Given the description of an element on the screen output the (x, y) to click on. 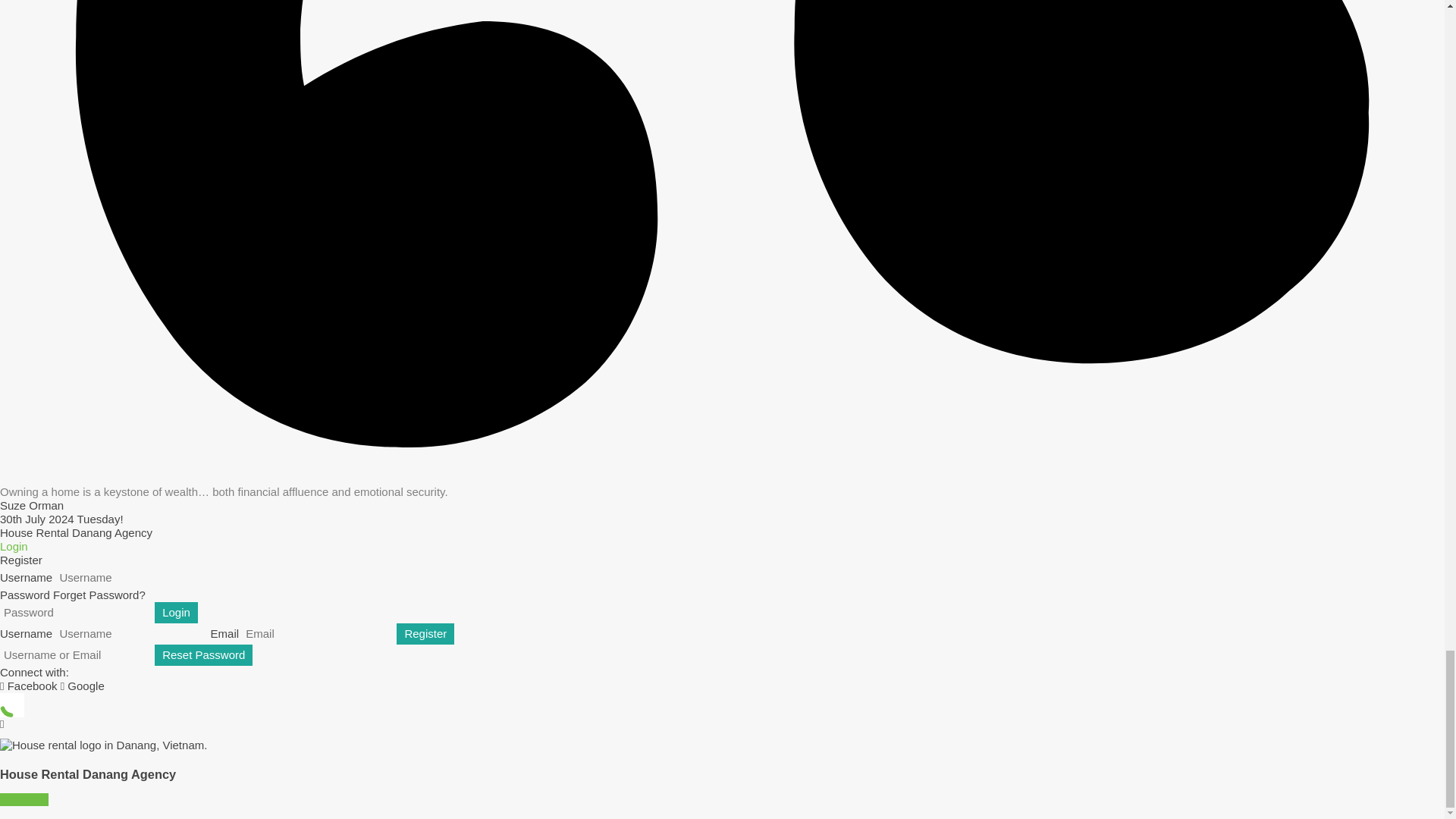
Username or Email (75, 654)
Username (130, 633)
Email (317, 633)
Username (130, 577)
Password (75, 612)
